Given the description of an element on the screen output the (x, y) to click on. 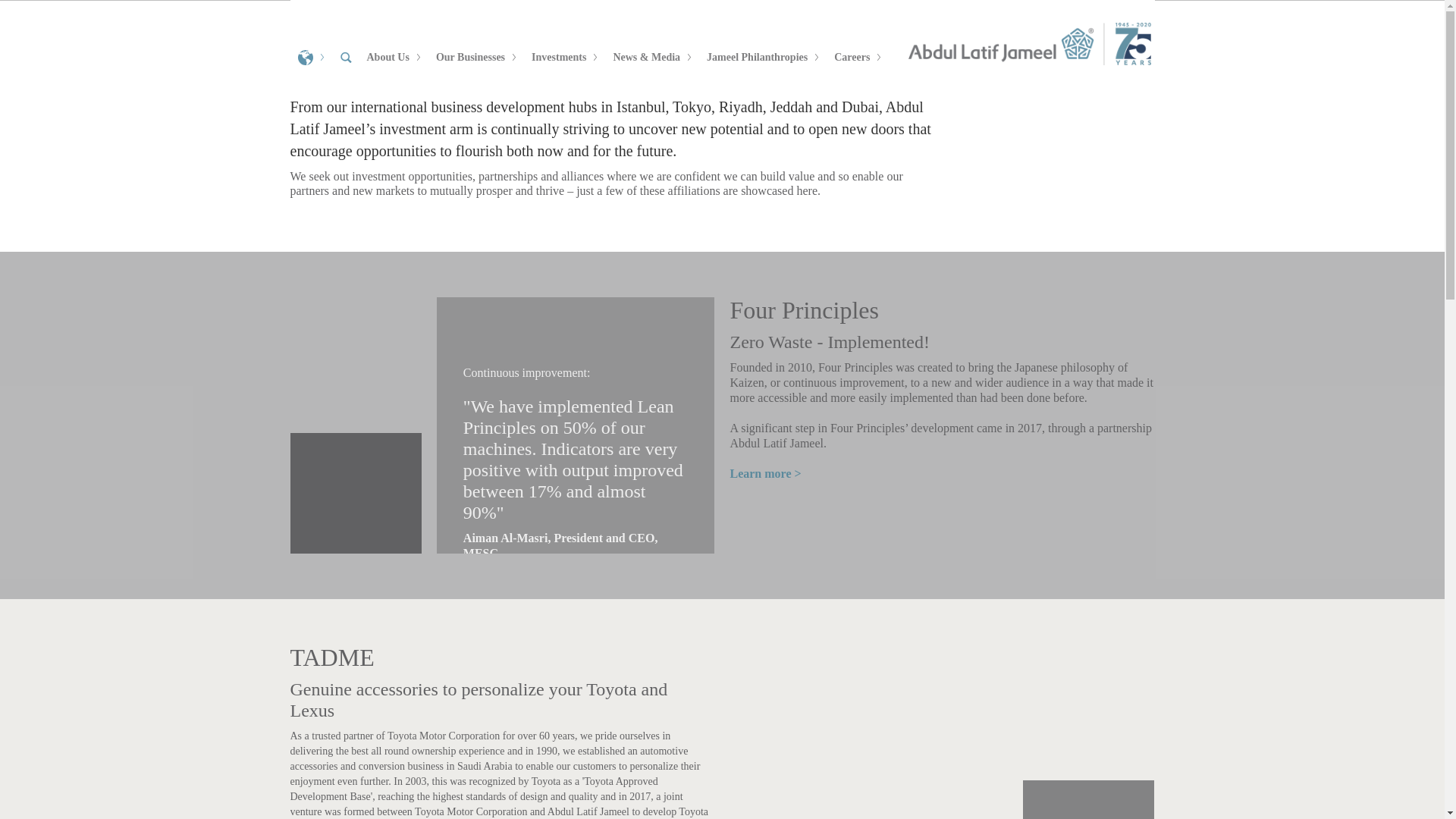
About Us (393, 57)
Investments (564, 57)
Our Businesses (476, 57)
